Given the description of an element on the screen output the (x, y) to click on. 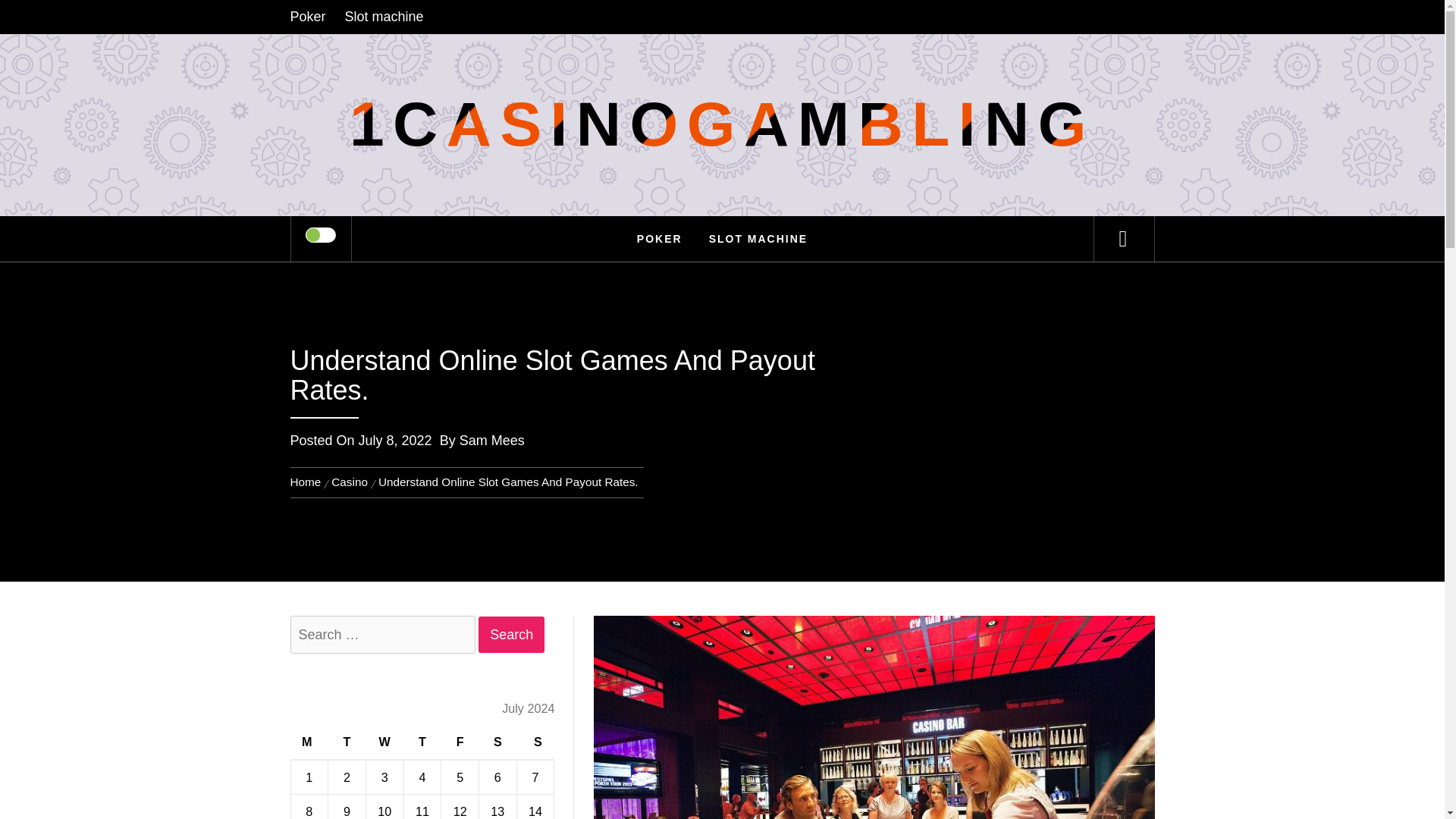
Search (797, 33)
Sunday (535, 742)
POKER (660, 238)
Search (511, 634)
Monday (309, 742)
Casino (349, 481)
Wednesday (384, 742)
July 8, 2022 (395, 440)
Home (307, 481)
1CASINOGAMBLING (721, 123)
Sam Mees (492, 440)
Search (511, 634)
Search (511, 634)
Friday (460, 742)
SLOT MACHINE (758, 238)
